Given the description of an element on the screen output the (x, y) to click on. 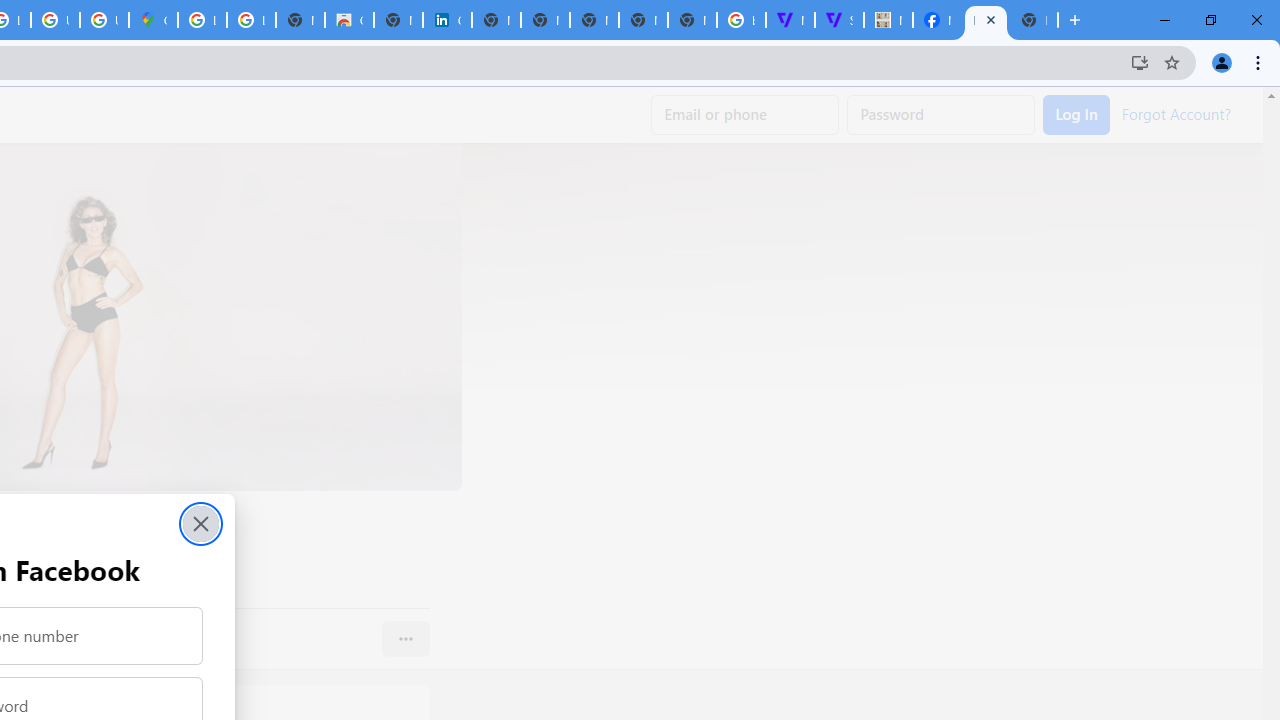
Password (941, 115)
MILEY CYRUS. (888, 20)
Email or phone (745, 115)
New Tab (1033, 20)
Install Facebook (1139, 62)
Miley Cyrus | Facebook (937, 20)
Forgot Account? (1176, 112)
